Given the description of an element on the screen output the (x, y) to click on. 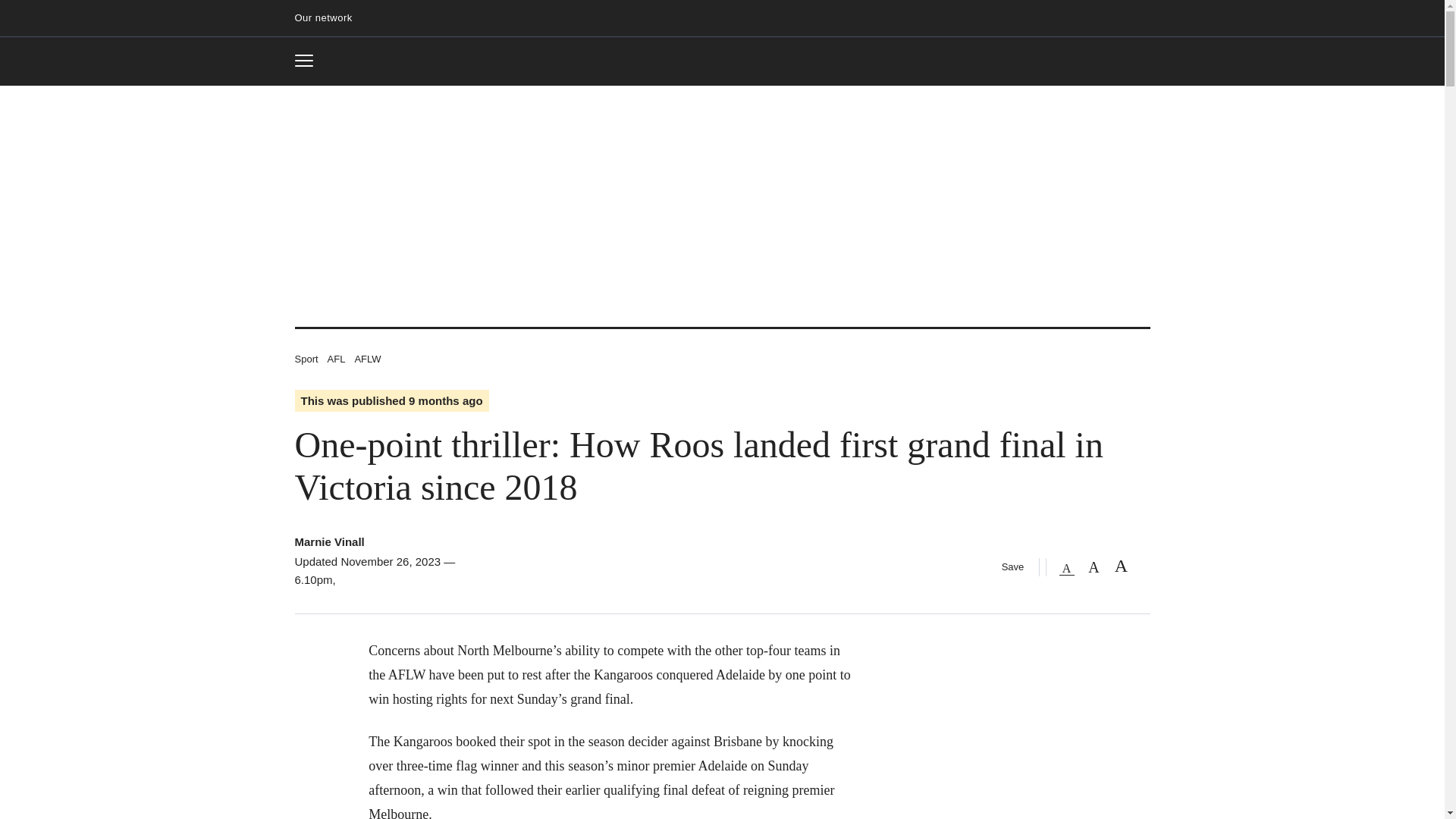
AFL (309, 60)
Articles by Marnie Vinall (336, 358)
Our network (329, 541)
Brisbane Times (329, 17)
AFLW (722, 61)
Sport (366, 358)
